Given the description of an element on the screen output the (x, y) to click on. 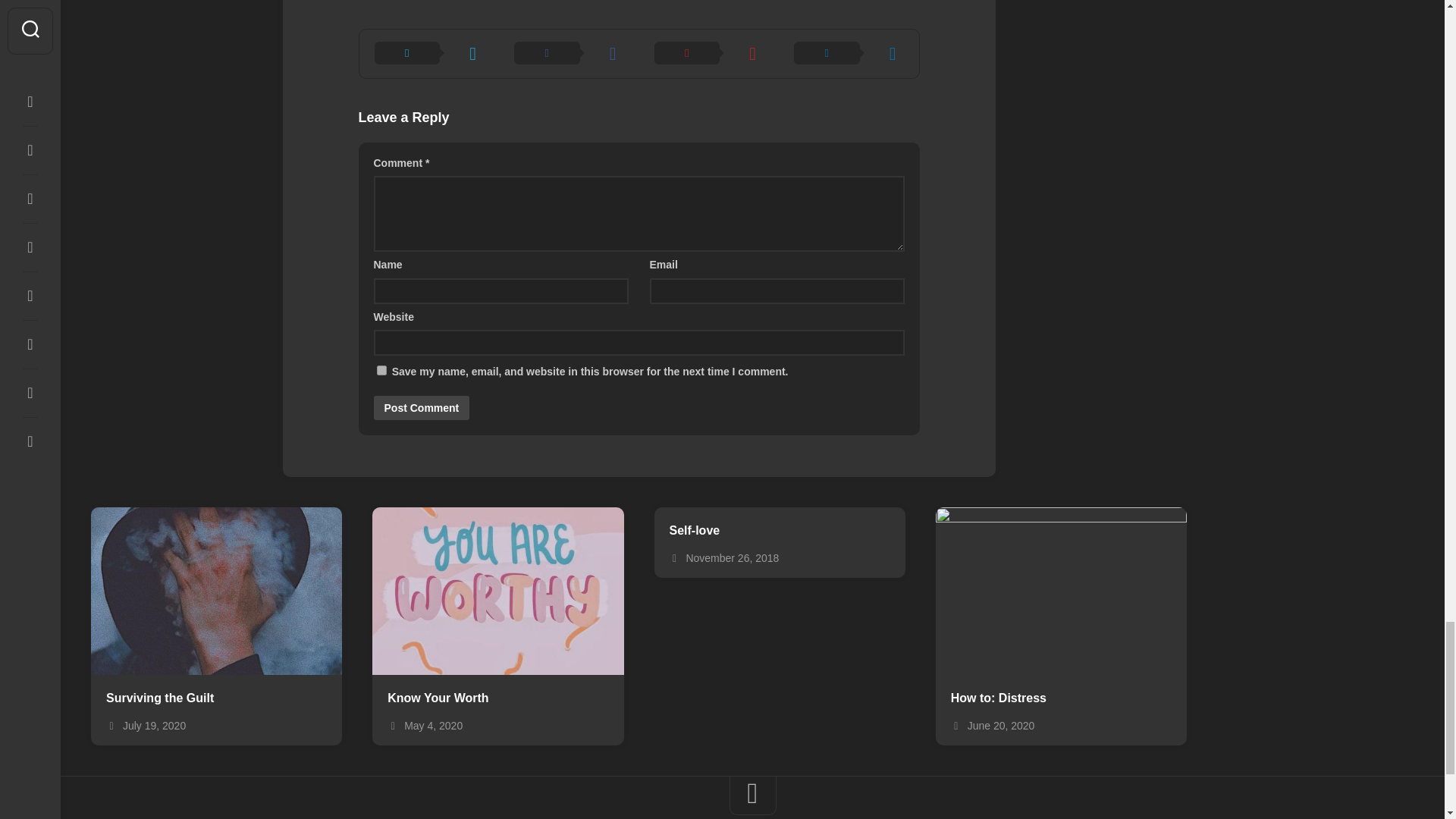
Share on LinkedIn (848, 53)
Post Comment (420, 407)
Share on Facebook (569, 53)
Share on X (429, 53)
Share on Pinterest (708, 53)
yes (380, 370)
